Given the description of an element on the screen output the (x, y) to click on. 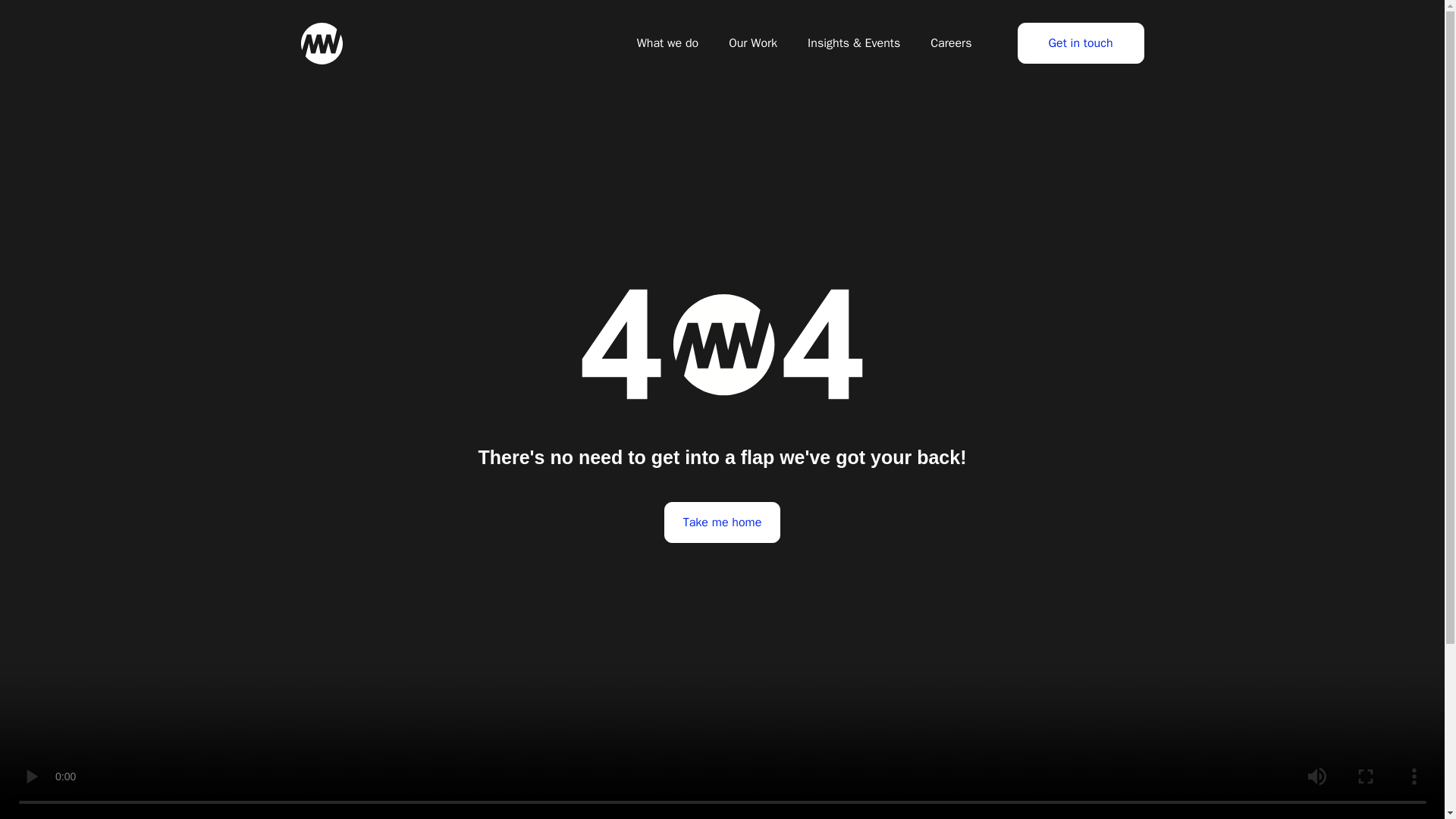
Careers (950, 43)
Mediaworks Home (320, 43)
Our Work (752, 43)
What we do (667, 43)
Take me home (721, 522)
Get in touch (1080, 42)
